Given the description of an element on the screen output the (x, y) to click on. 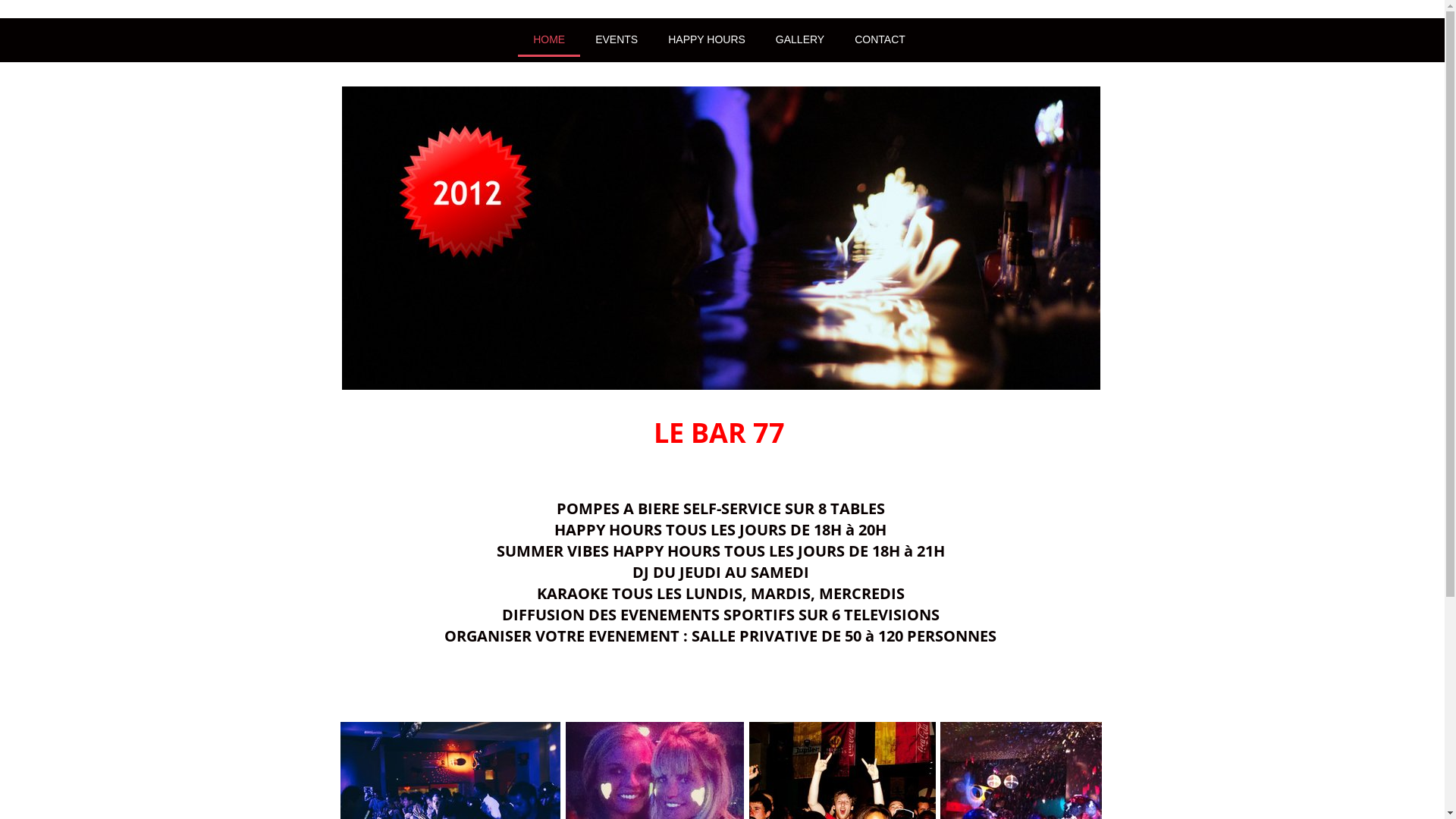
GALLERY Element type: text (799, 39)
EVENTS Element type: text (616, 39)
HOME Element type: text (548, 39)
HAPPY HOURS Element type: text (706, 39)
CONTACT Element type: text (879, 39)
